Given the description of an element on the screen output the (x, y) to click on. 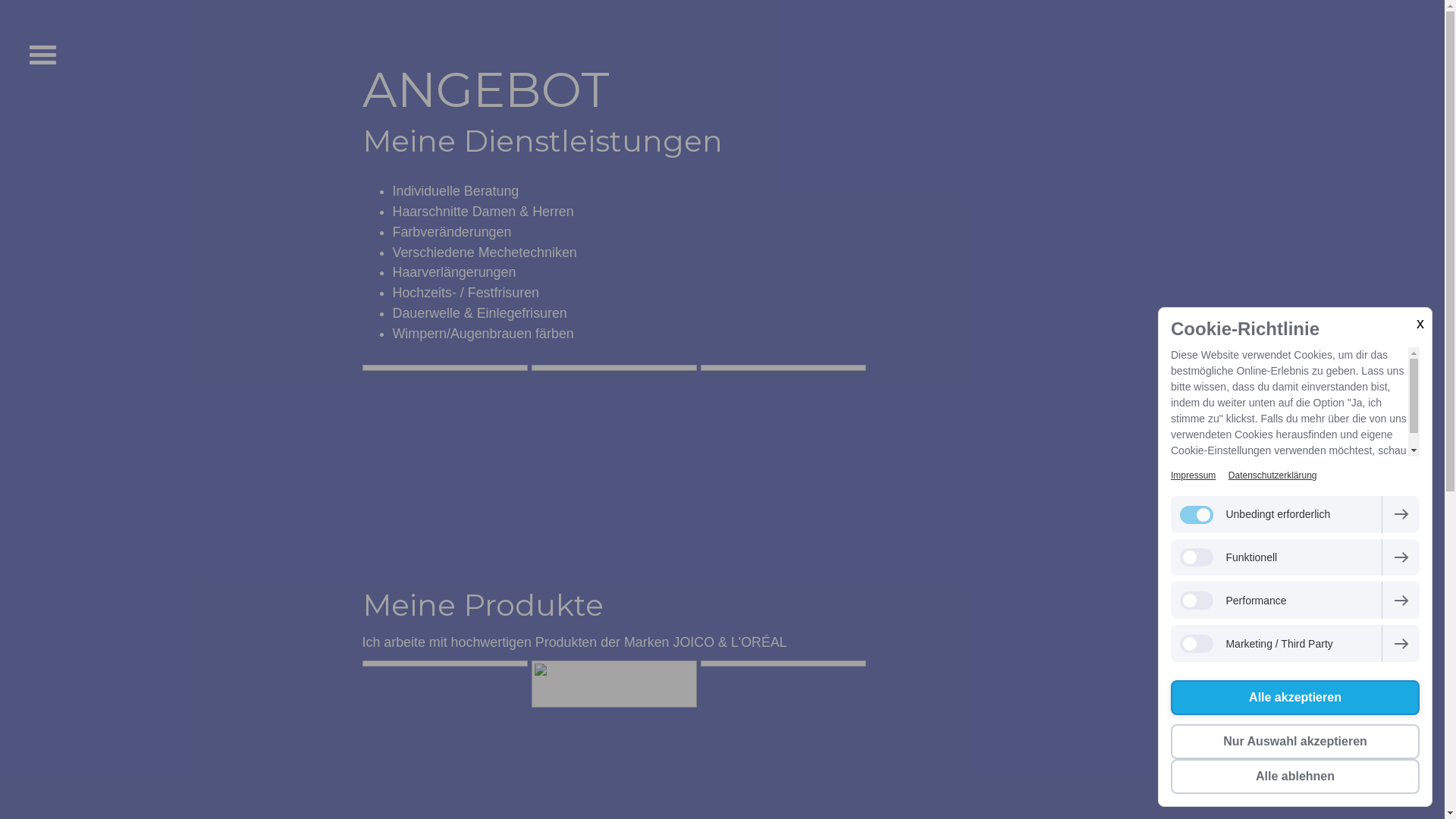
Nur Auswahl akzeptieren Element type: text (1294, 741)
Alle ablehnen Element type: text (1294, 776)
Impressum Element type: text (1192, 475)
Alle akzeptieren Element type: text (1294, 697)
